Given the description of an element on the screen output the (x, y) to click on. 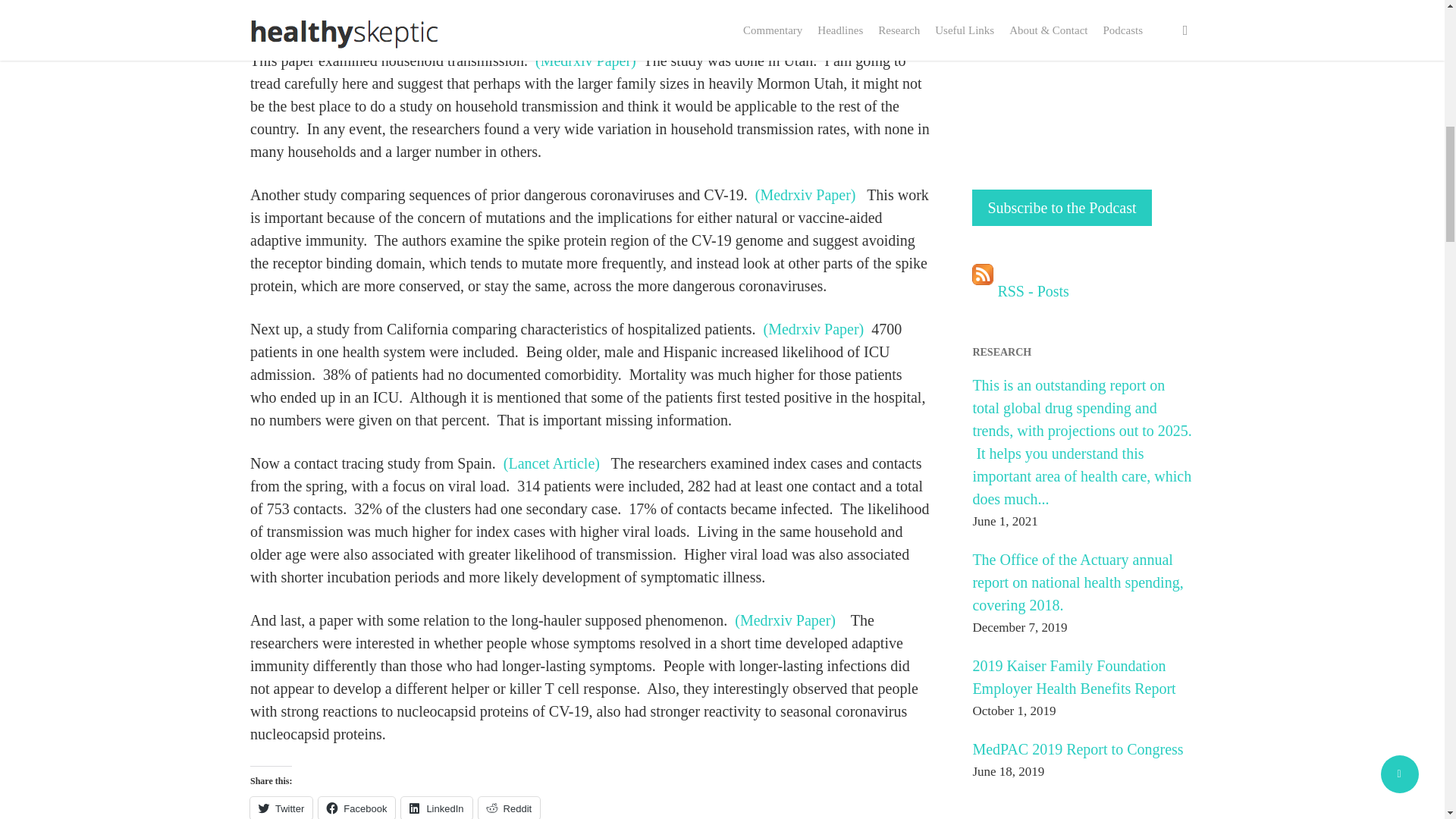
Reddit (509, 807)
Twitter (281, 807)
Click to share on Facebook (356, 807)
Click to share on LinkedIn (436, 807)
LinkedIn (436, 807)
Click to share on Twitter (281, 807)
Subscribe to the Podcast (1061, 207)
 RSS - Posts (1020, 290)
Click to share on Reddit (509, 807)
Facebook (356, 807)
Subscribe to posts (1020, 290)
